Given the description of an element on the screen output the (x, y) to click on. 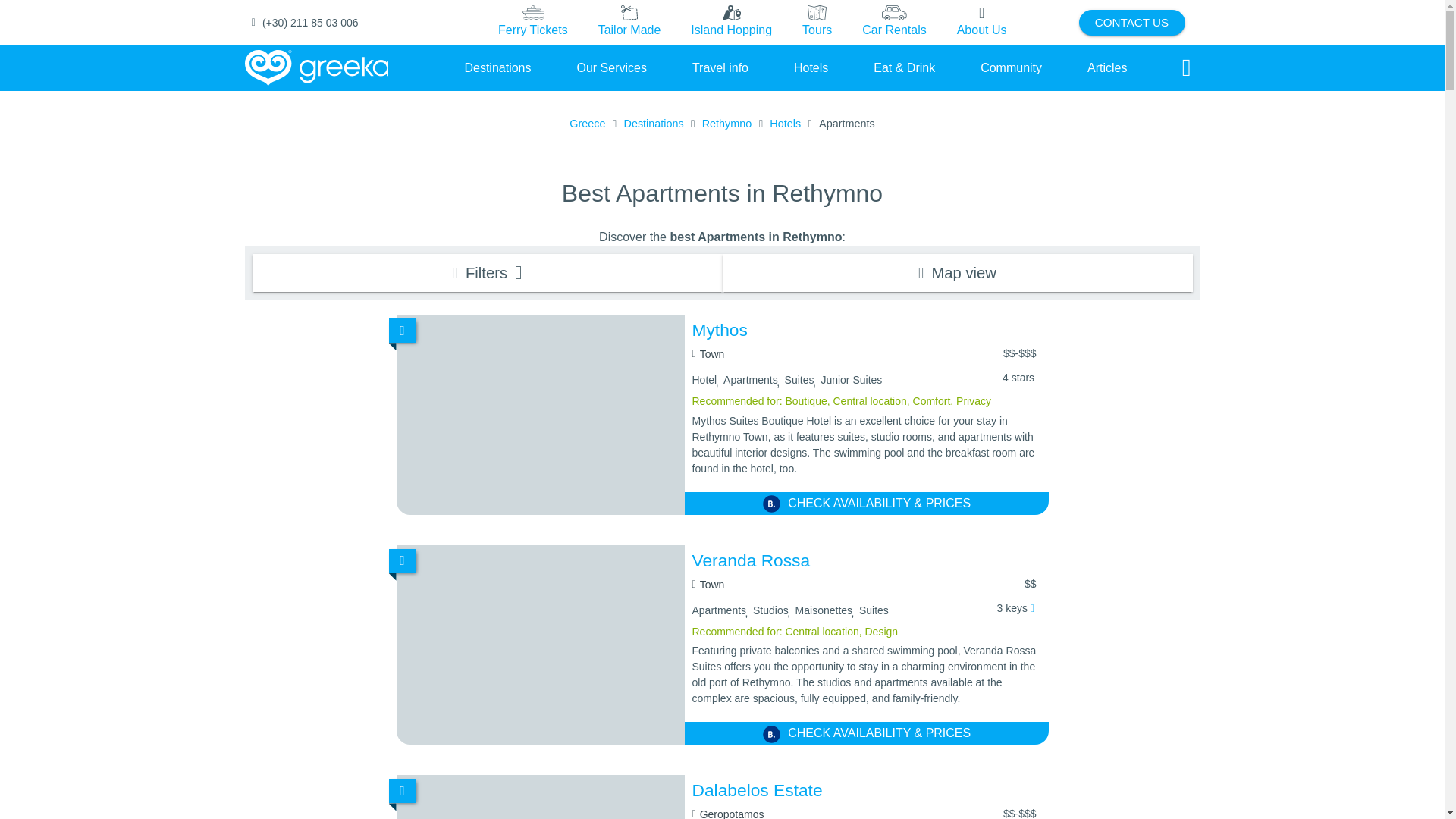
About Us (981, 22)
Community (1010, 67)
Contact us (1131, 22)
4 stars (1018, 377)
Mythos (866, 330)
Hotels (810, 67)
Car Rentals (893, 22)
Hotels (810, 67)
Island Hopping (730, 22)
Tours (817, 22)
